Given the description of an element on the screen output the (x, y) to click on. 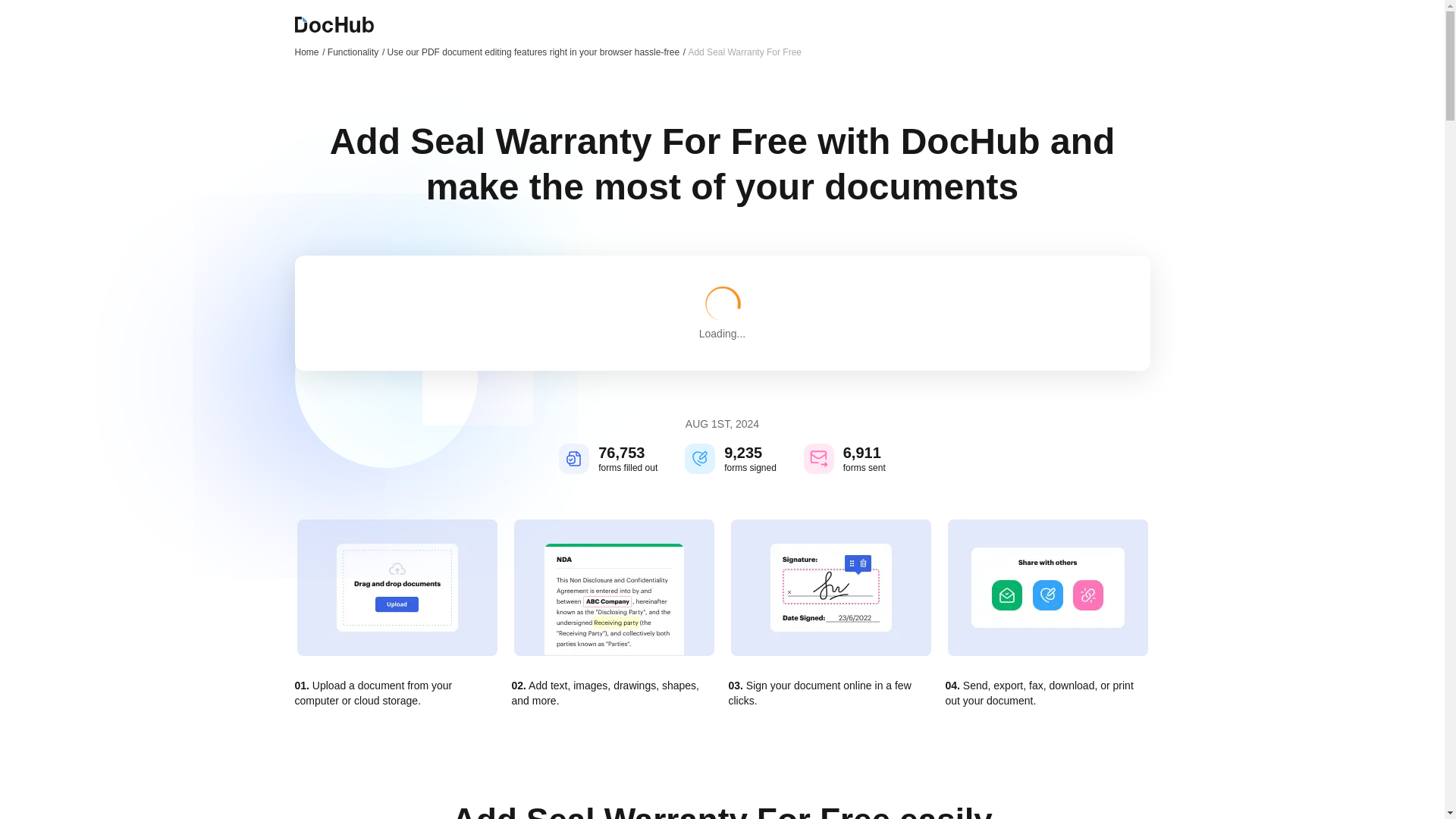
Functionality (355, 51)
Home (309, 51)
